Given the description of an element on the screen output the (x, y) to click on. 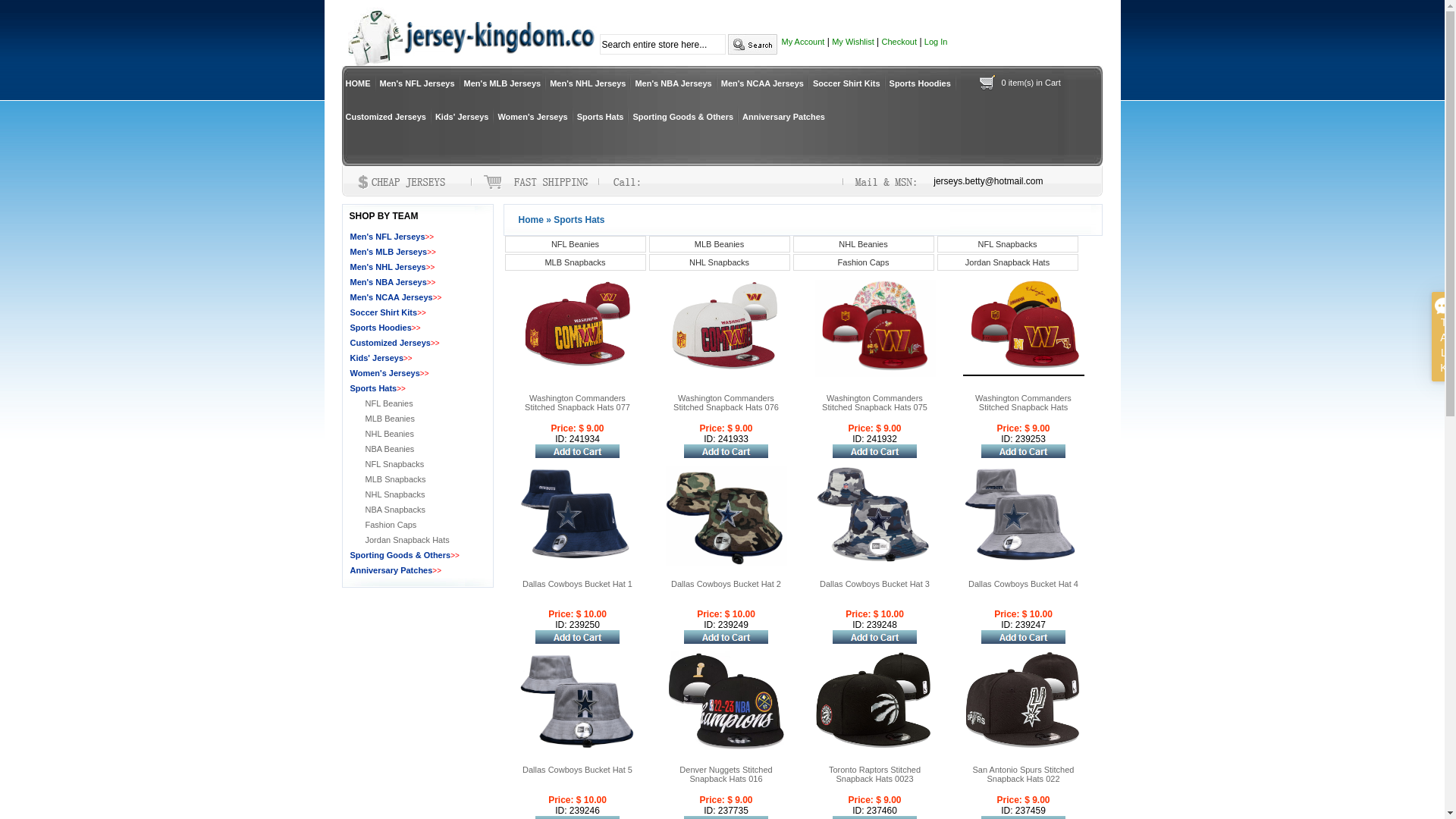
Men's NCAA Jerseys Element type: text (762, 83)
NHL Beanies Element type: text (389, 433)
MLB Beanies Element type: text (719, 243)
Dallas Cowboys Bucket Hat 1 Element type: text (577, 583)
MLB Snapbacks Element type: text (575, 262)
NBA Beanies Element type: text (389, 448)
Denver Nuggets Stitched Snapback Hats 016 Element type: text (725, 774)
Men's NFL Jerseys Element type: text (417, 83)
Sporting Goods & Others Element type: text (682, 116)
Washington Commanders Stitched Snapback Hats 076 Element type: text (725, 402)
My Wishlist Element type: text (852, 41)
San Antonio Spurs Stitched Snapback Hats 022 Element type: text (1023, 774)
Kids' Jerseys Element type: text (377, 357)
Customized Jerseys Element type: text (390, 342)
Men's NFL Jerseys Element type: text (387, 236)
NBA Snapbacks Element type: text (395, 509)
Log In Element type: text (935, 41)
NFL Beanies Element type: text (575, 243)
Anniversary Patches Element type: text (391, 569)
Jordan Snapback Hats Element type: text (1007, 262)
NFL Snapbacks Element type: text (1007, 243)
Sporting Goods & Others Element type: text (400, 554)
Dallas Cowboys Bucket Hat 4 Element type: text (1023, 583)
Soccer Shirt Kits Element type: text (383, 311)
NHL Snapbacks Element type: text (719, 262)
Women's Jerseys Element type: text (385, 372)
Jordan Snapback Hats Element type: text (407, 539)
NFL Beanies Element type: text (389, 402)
Toronto Raptors Stitched Snapback Hats 0023 Element type: text (874, 774)
Dallas Cowboys Bucket Hat 2 Element type: text (726, 583)
Checkout Element type: text (898, 41)
jerseys.betty@hotmail.com Element type: text (987, 180)
Washington Commanders Stitched Snapback Hats 075 Element type: text (874, 402)
NHL Beanies Element type: text (863, 243)
Men's NHL Jerseys Element type: text (587, 83)
Fashion Caps Element type: text (391, 524)
Washington Commanders Stitched Snapback Hats Element type: text (1023, 402)
Anniversary Patches Element type: text (783, 116)
Women's Jerseys Element type: text (532, 116)
Sports Hats Element type: text (373, 387)
Men's NCAA Jerseys Element type: text (391, 296)
Soccer Shirt Kits Element type: text (846, 83)
HOME Element type: text (357, 83)
Sports Hoodies Element type: text (919, 83)
Dallas Cowboys Bucket Hat 5 Element type: text (577, 769)
Men's NBA Jerseys Element type: text (388, 281)
NFL Snapbacks Element type: text (394, 463)
Fashion Caps Element type: text (863, 262)
Men's NBA Jerseys Element type: text (672, 83)
Home Element type: text (530, 219)
Men's NHL Jerseys Element type: text (388, 266)
Dallas Cowboys Bucket Hat 3 Element type: text (874, 583)
NHL Snapbacks Element type: text (395, 493)
MLB Snapbacks Element type: text (395, 478)
My Account Element type: text (802, 41)
MLB Beanies Element type: text (389, 418)
Kids' Jerseys Element type: text (461, 116)
Sports Hats Element type: text (600, 116)
Washington Commanders Stitched Snapback Hats 077 Element type: text (577, 402)
Customized Jerseys Element type: text (385, 116)
Men's MLB Jerseys Element type: text (502, 83)
Sports Hoodies Element type: text (380, 327)
0 item(s) in Cart Element type: text (1030, 82)
Men's MLB Jerseys Element type: text (388, 251)
